Given the description of an element on the screen output the (x, y) to click on. 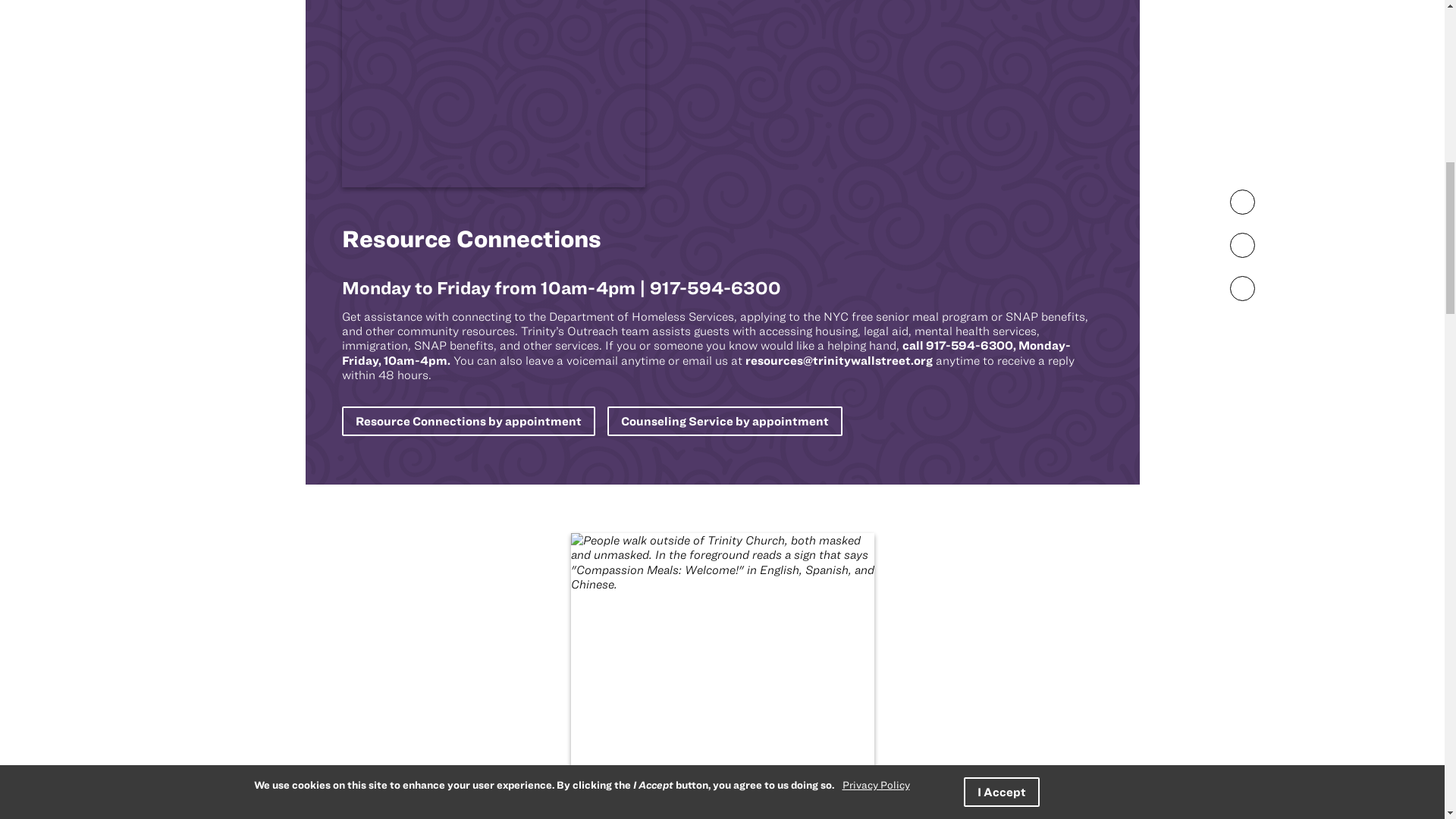
Resource Connections by appointment (467, 420)
Counseling Service by appointment (724, 420)
